Given the description of an element on the screen output the (x, y) to click on. 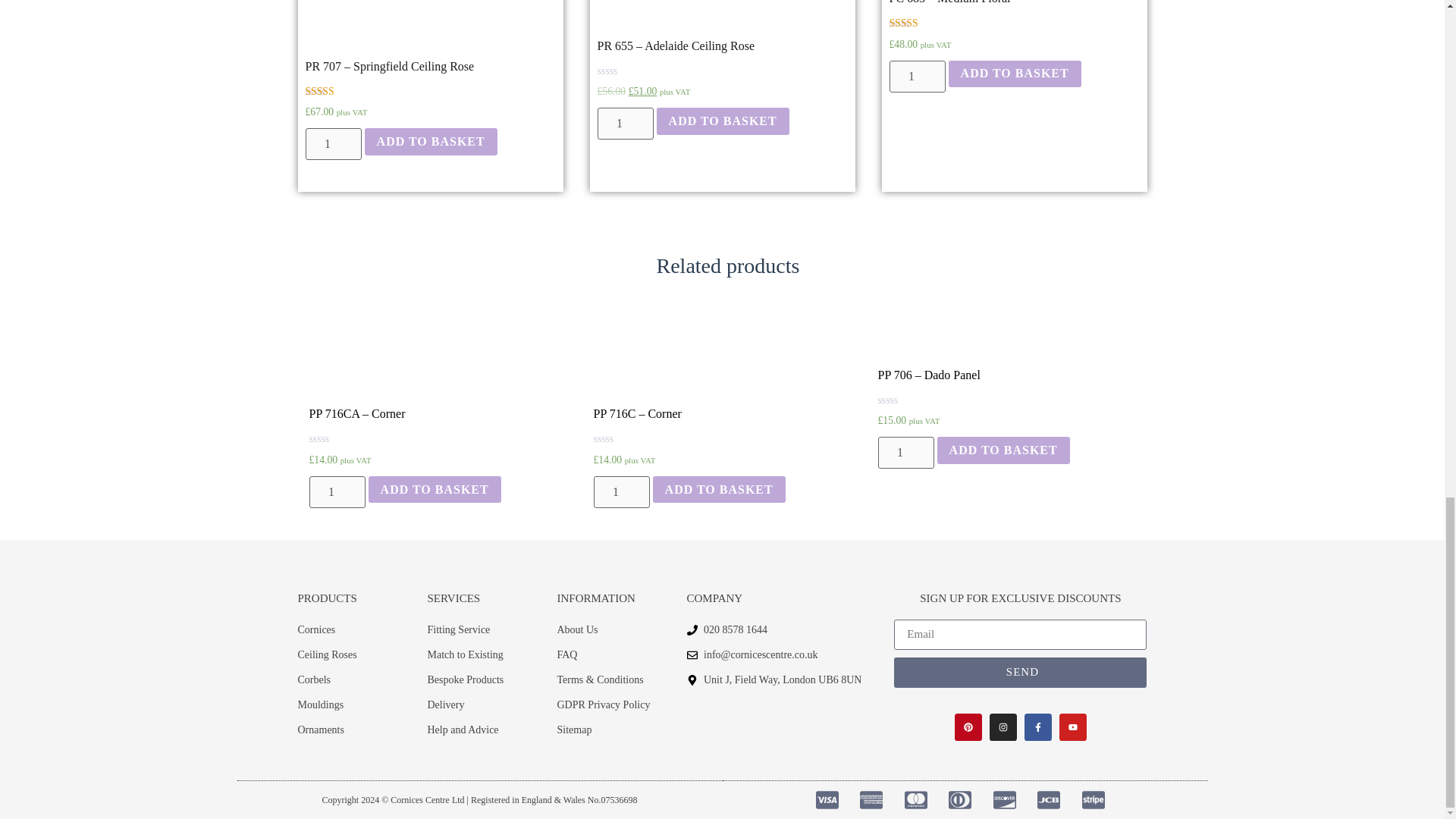
1 (624, 123)
1 (620, 491)
1 (332, 143)
1 (905, 452)
1 (336, 491)
1 (916, 76)
